Given the description of an element on the screen output the (x, y) to click on. 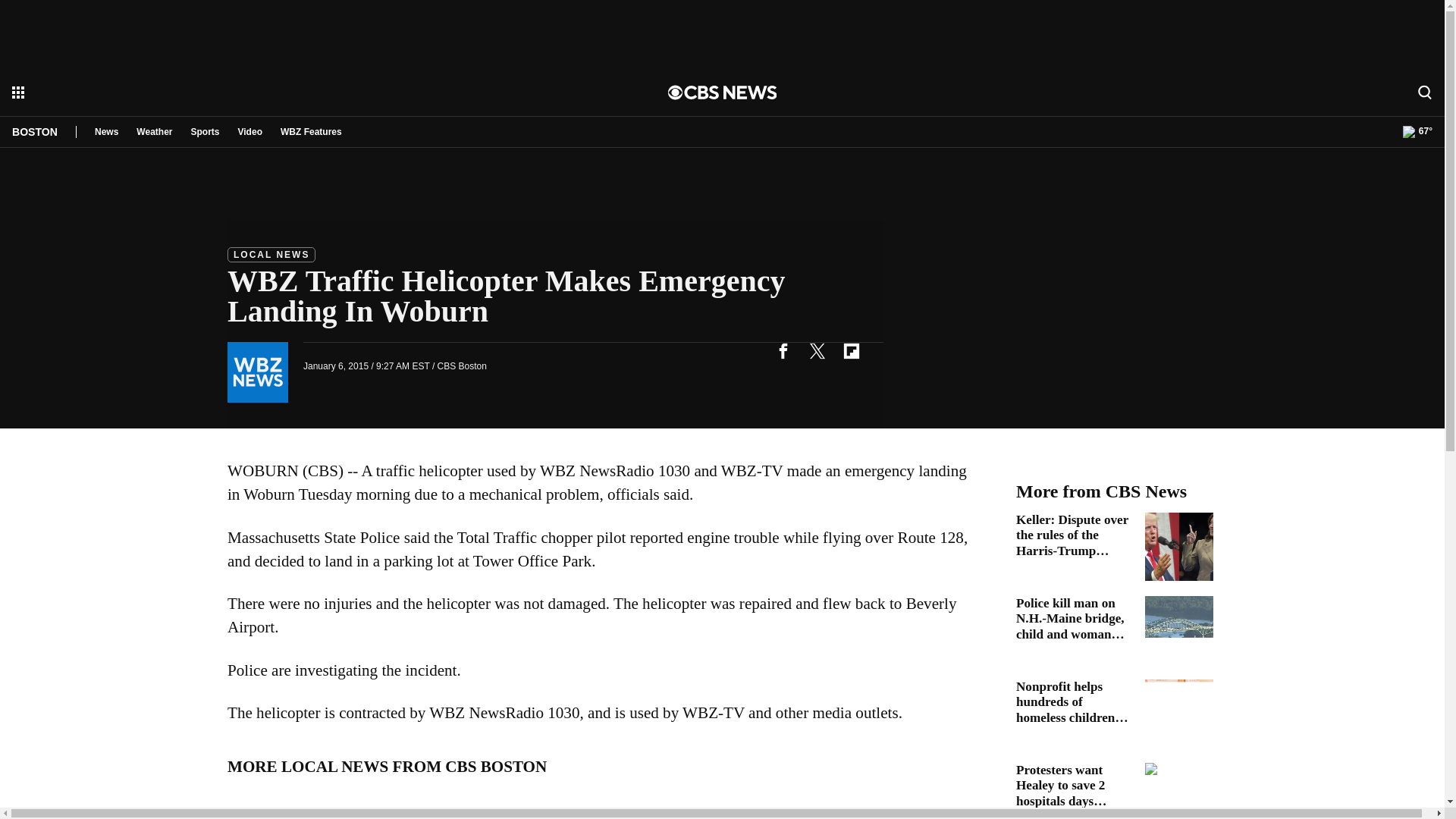
flipboard (850, 350)
twitter (816, 350)
facebook (782, 350)
